Given the description of an element on the screen output the (x, y) to click on. 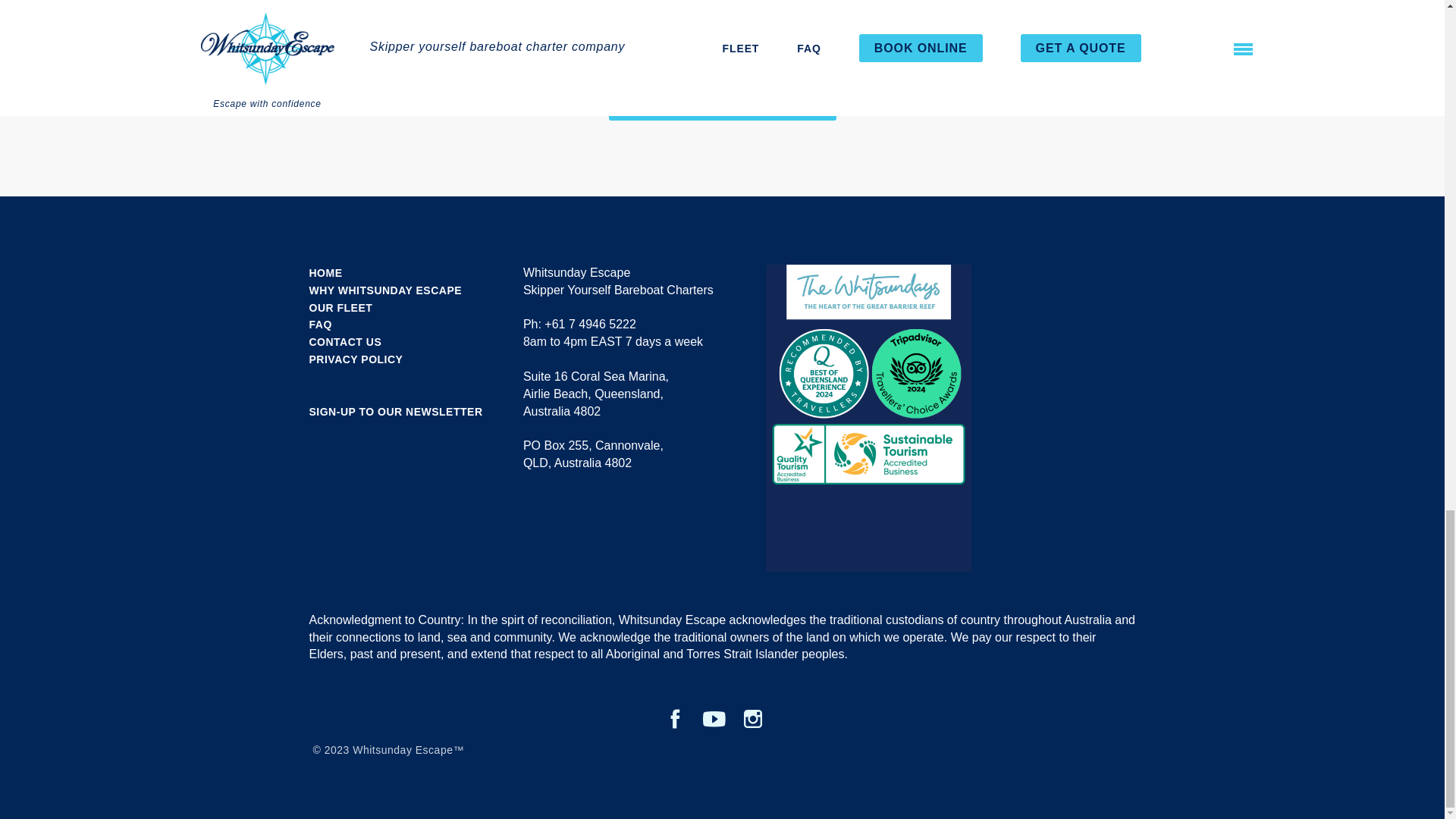
HOME (325, 272)
RESORT AND MARINA INFORMATION (721, 98)
PRIVACY POLICY (355, 358)
WHY WHITSUNDAY ESCAPE (385, 290)
SIGN-UP TO OUR NEWSLETTER (395, 411)
CONTACT US (344, 341)
FAQ (319, 324)
OUR FLEET (340, 307)
